Given the description of an element on the screen output the (x, y) to click on. 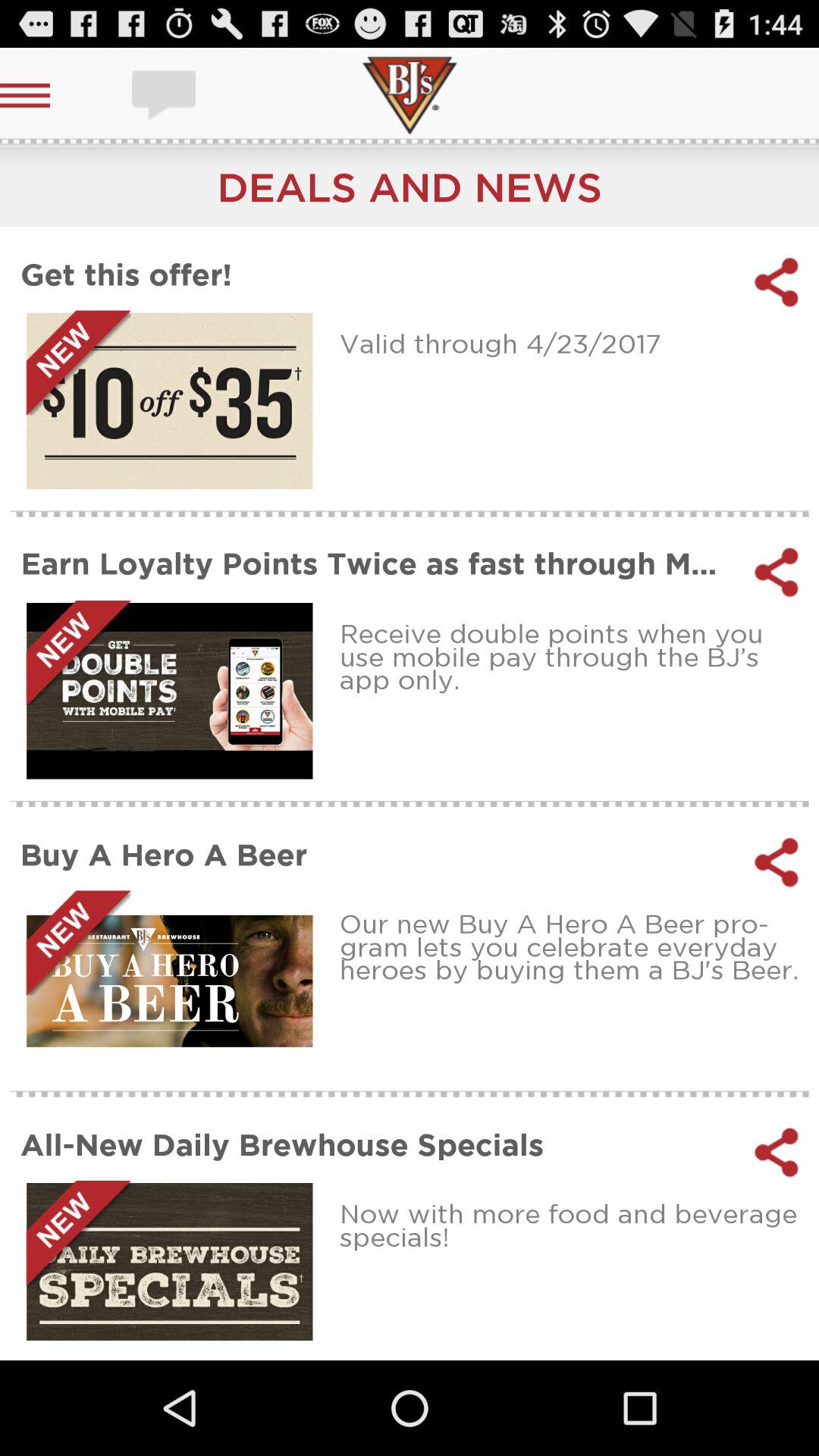
choose app above the earn loyalty points app (573, 343)
